Given the description of an element on the screen output the (x, y) to click on. 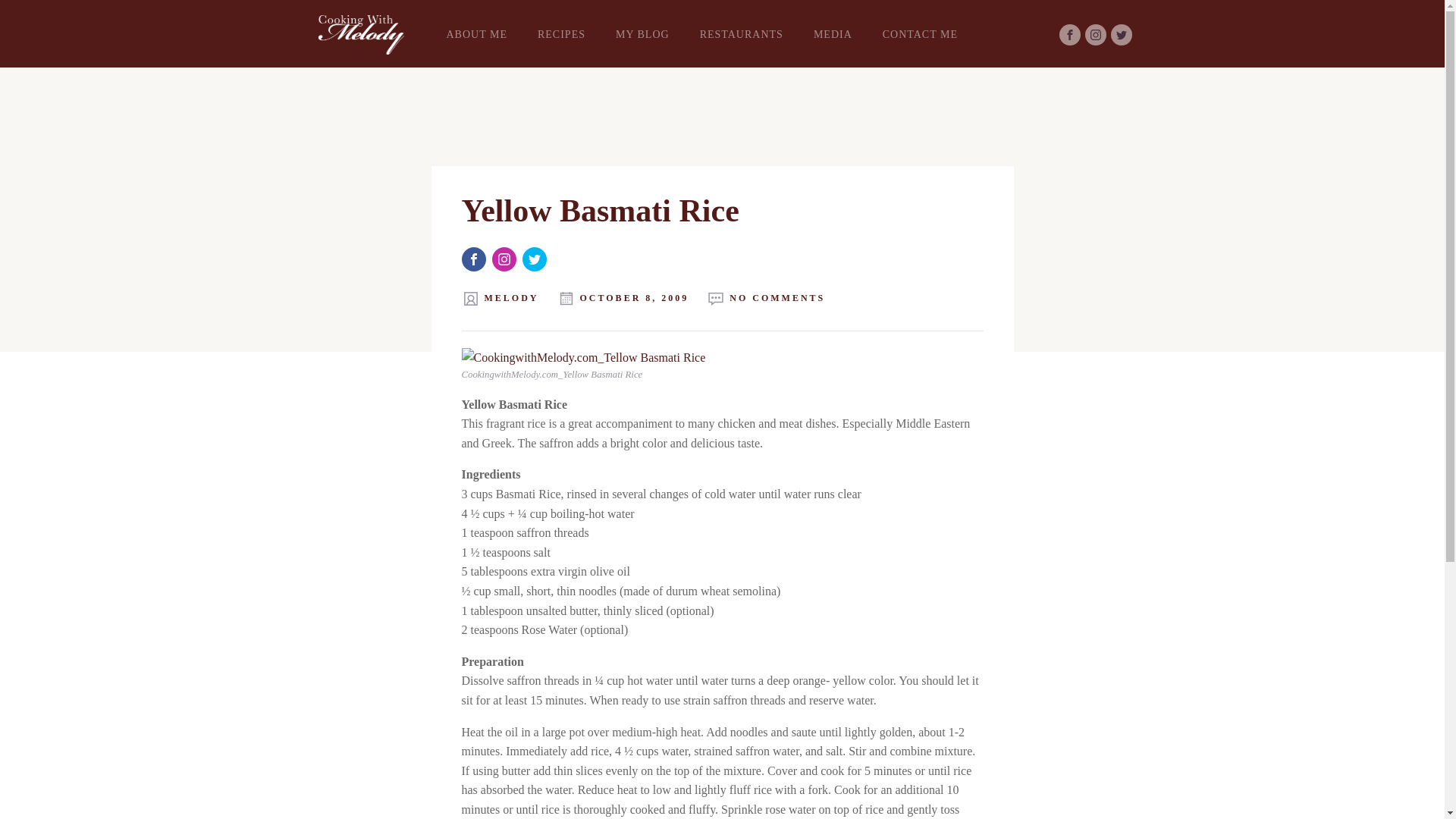
RECIPES (560, 34)
MY BLOG (641, 34)
MEDIA (832, 34)
CONTACT ME (919, 34)
RESTAURANTS (740, 34)
ABOUT ME (475, 34)
